Given the description of an element on the screen output the (x, y) to click on. 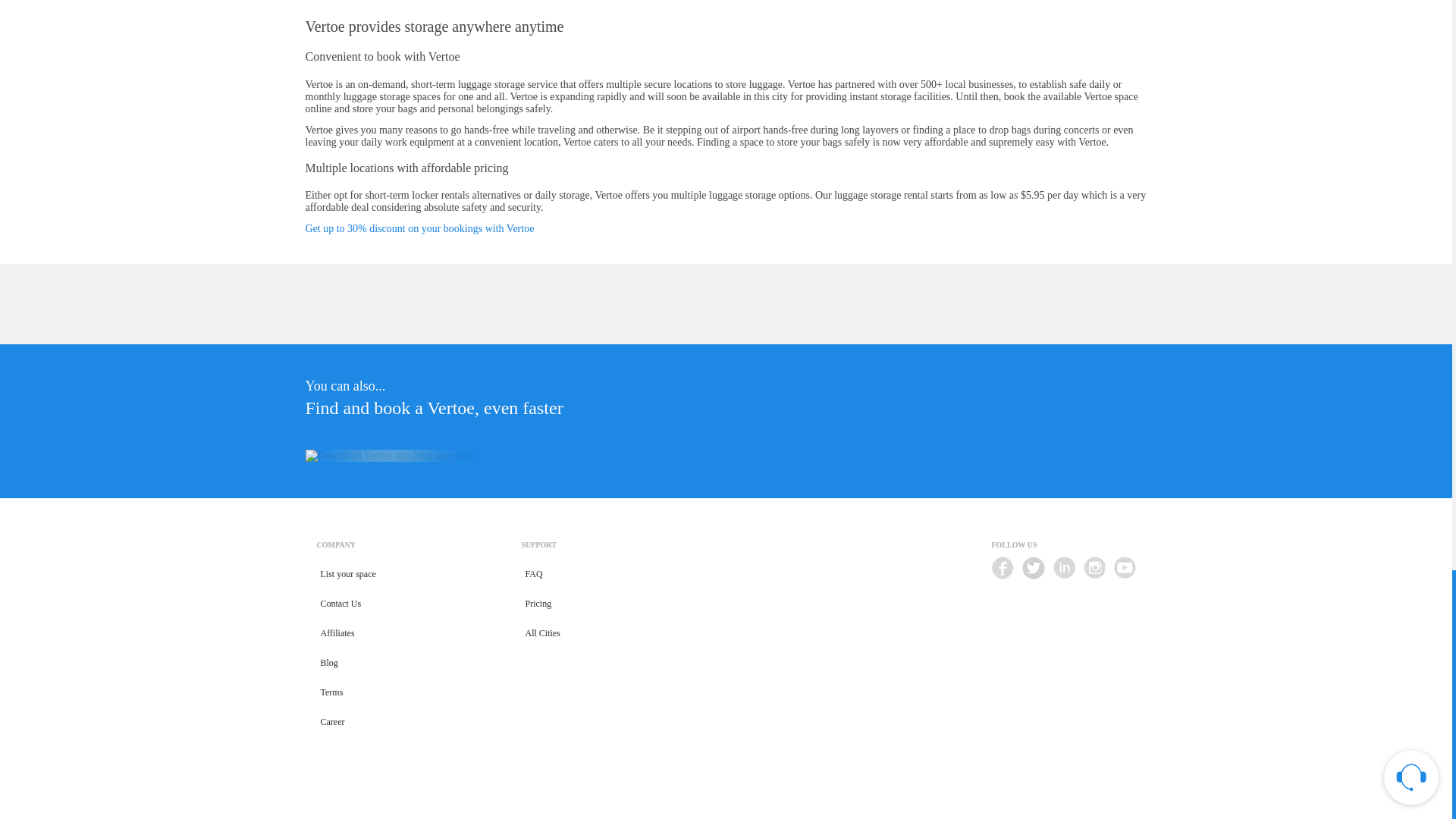
List your space (348, 573)
Contact Us (341, 603)
Terms (332, 692)
Career (333, 722)
Affiliates (337, 633)
Pricing (538, 603)
All Cities (542, 633)
